Given the description of an element on the screen output the (x, y) to click on. 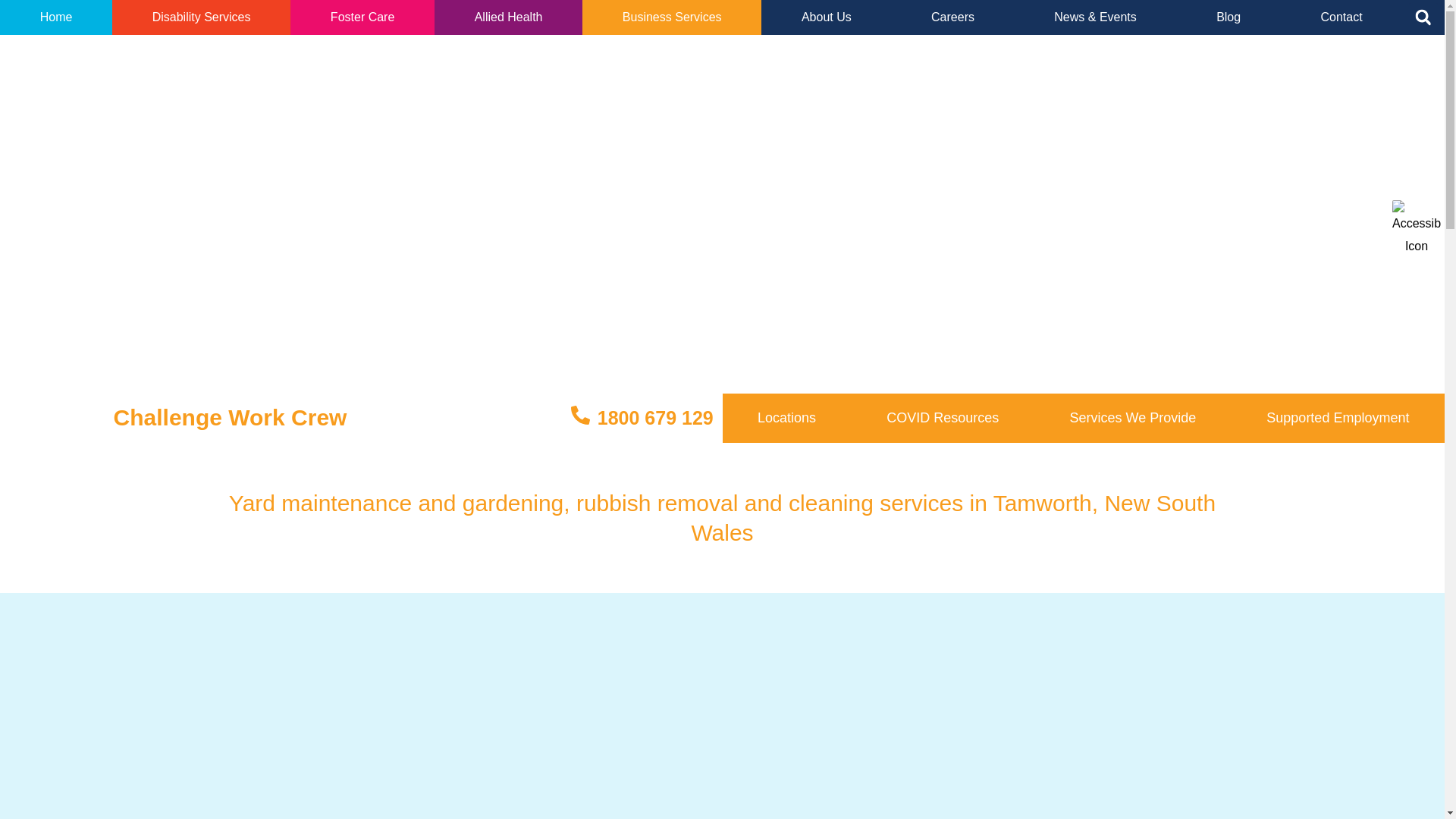
About Us (826, 17)
Business Services (671, 17)
Disability Services (200, 17)
Foster Care (361, 17)
Allied Health (507, 17)
Home (56, 17)
